Given the description of an element on the screen output the (x, y) to click on. 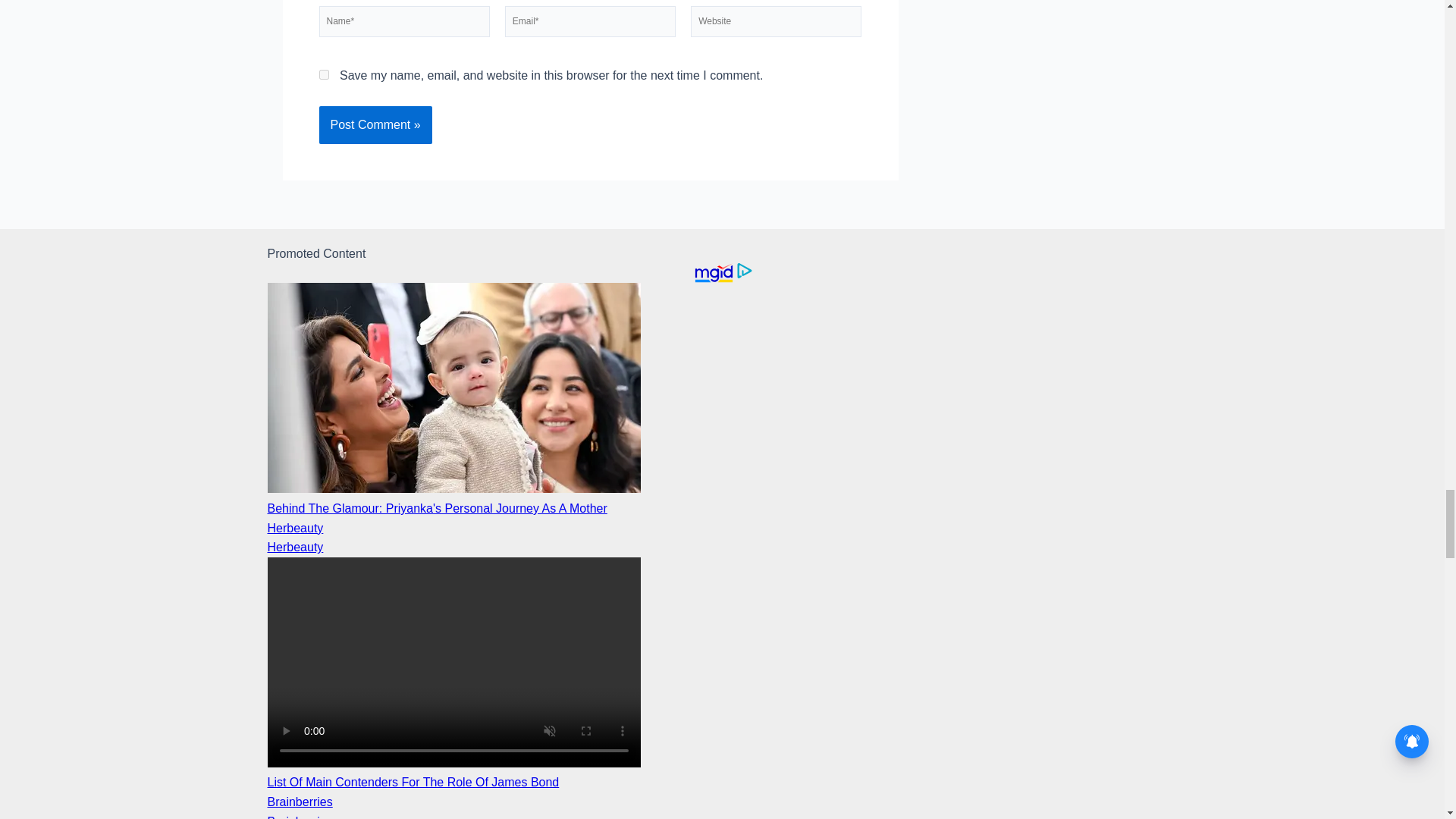
yes (323, 74)
